Given the description of an element on the screen output the (x, y) to click on. 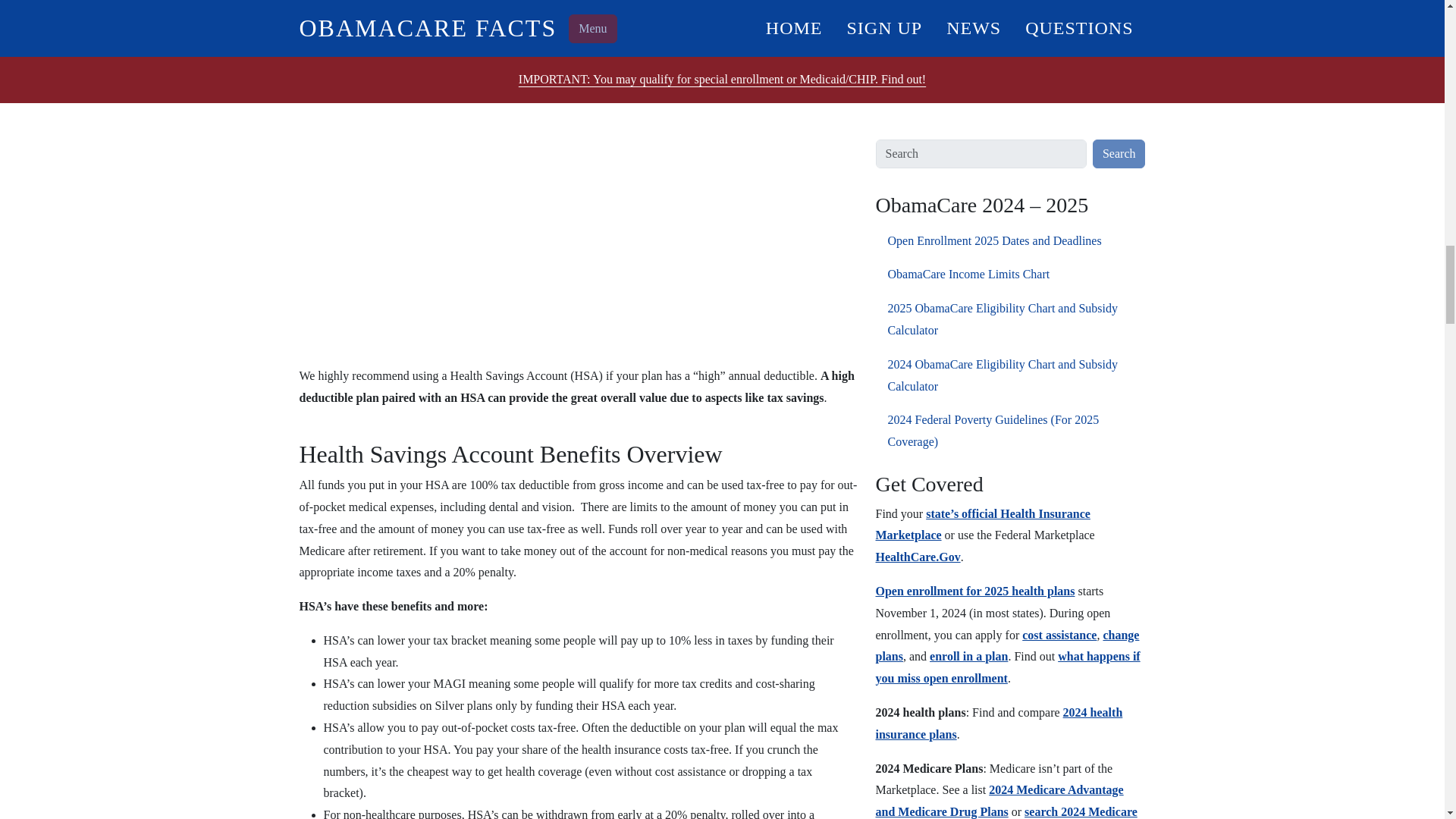
Health Insurance Deductible (684, 27)
ObamaCare Subsidies (419, 6)
Types of Health Insurance Plans (742, 27)
What is the Health Insurance Marketplace? (564, 6)
